Given the description of an element on the screen output the (x, y) to click on. 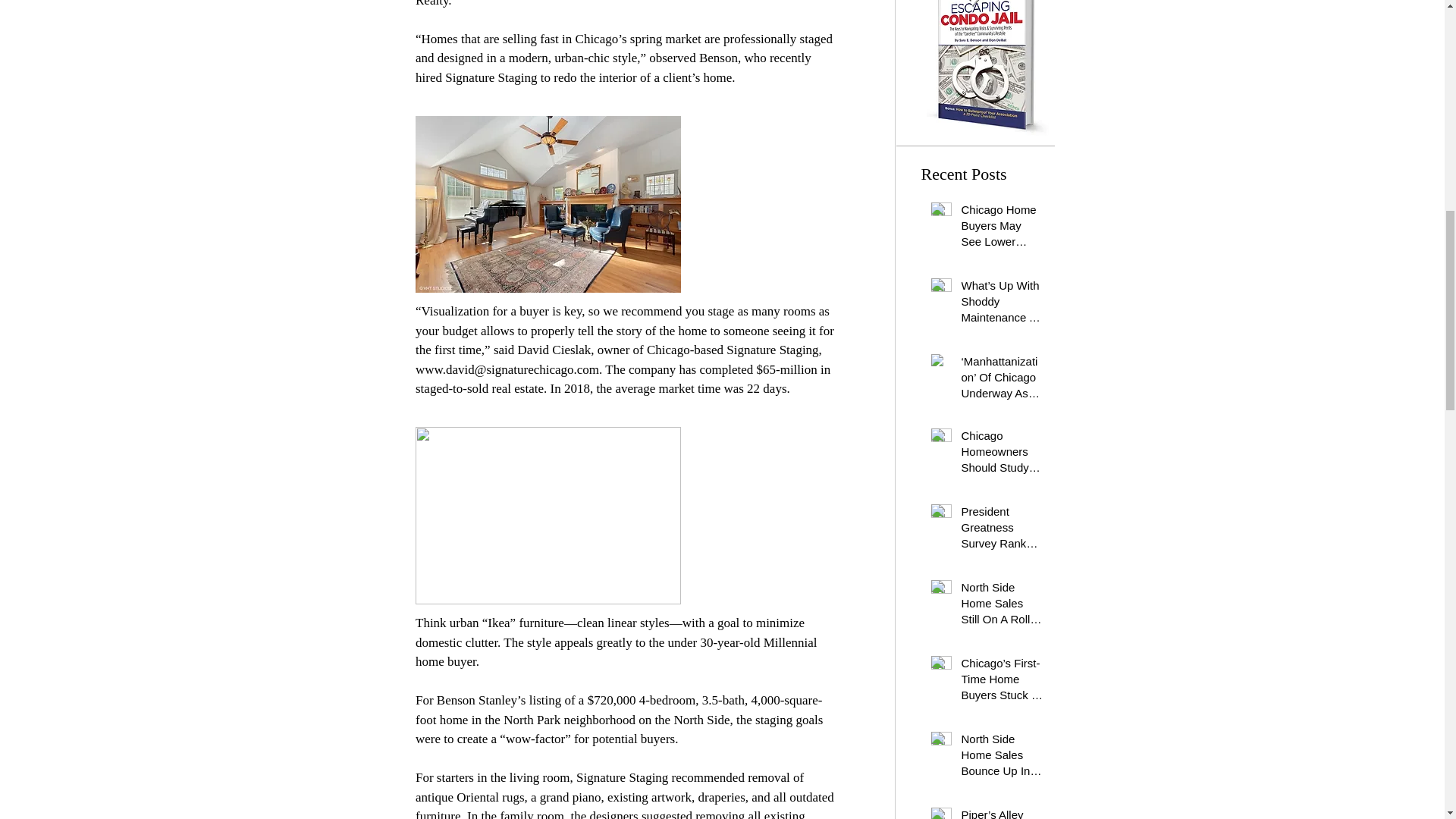
Chicago Home Buyers May See Lower Summer Mortgage Rates (1001, 228)
North Side Home Sales Bounce Up In April (1001, 757)
Chicago Homeowners Should Study Escalating Tax Bills (1001, 454)
North Side Home Sales Still On A Roller Coaster Ride (1001, 606)
President Greatness Survey Ranks Lincoln First, Trump Last (1001, 530)
